Given the description of an element on the screen output the (x, y) to click on. 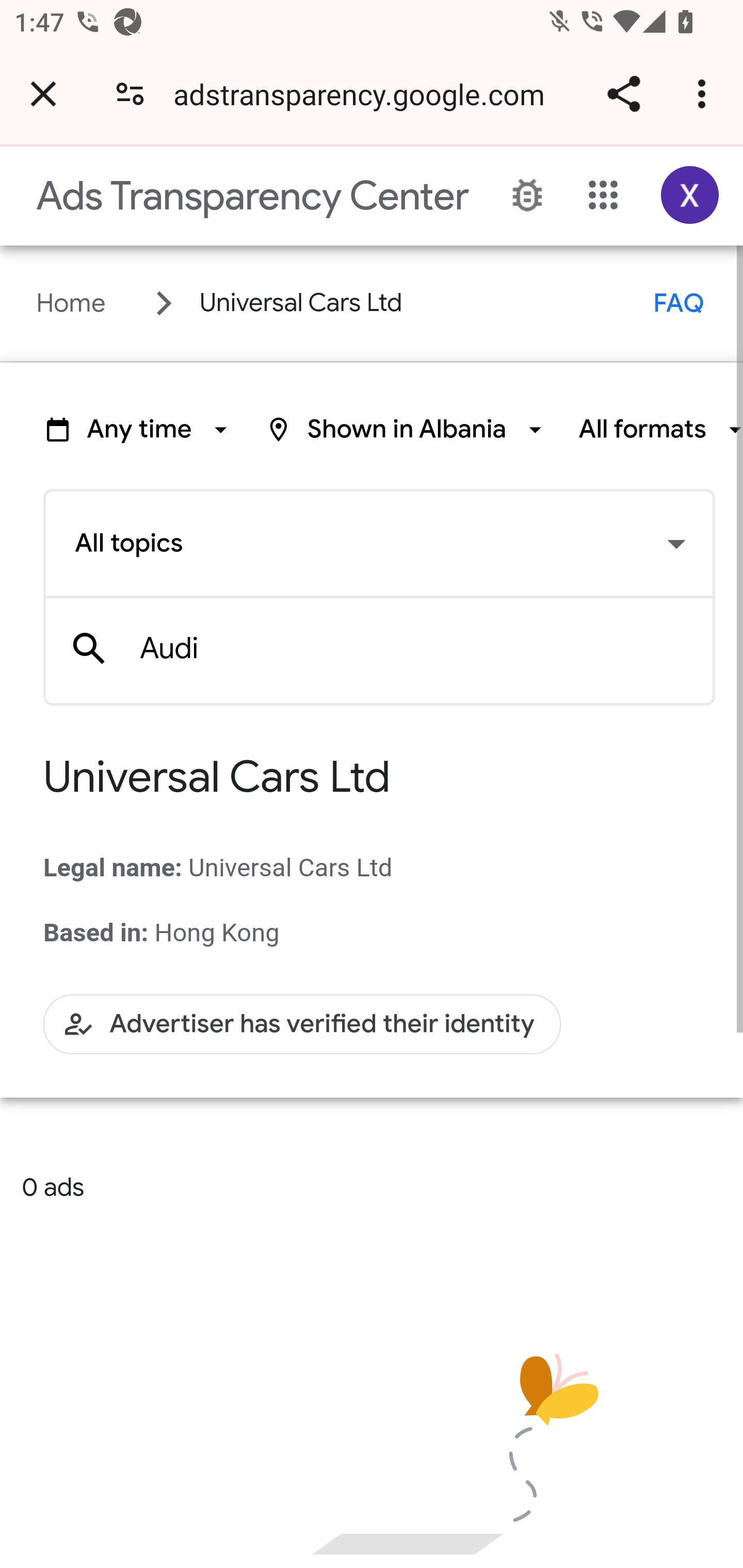
Close tab (43, 93)
Share (623, 93)
Customize and control Google Chrome (705, 93)
Connection is secure (129, 93)
adstransparency.google.com (366, 93)
Send Bug Report (526, 195)
Google apps (603, 195)
Google Account: Xiaoran (zxrappiumtest@gmail.com) (690, 195)
Home (71, 303)
FAQ (678, 303)
Date range filter button (139, 428)
Region selection filter button (406, 428)
Ad format filter button: selected All formats (660, 428)
All topics (378, 543)
Audi (411, 648)
Advertiser has verified their identity (302, 1023)
